Given the description of an element on the screen output the (x, y) to click on. 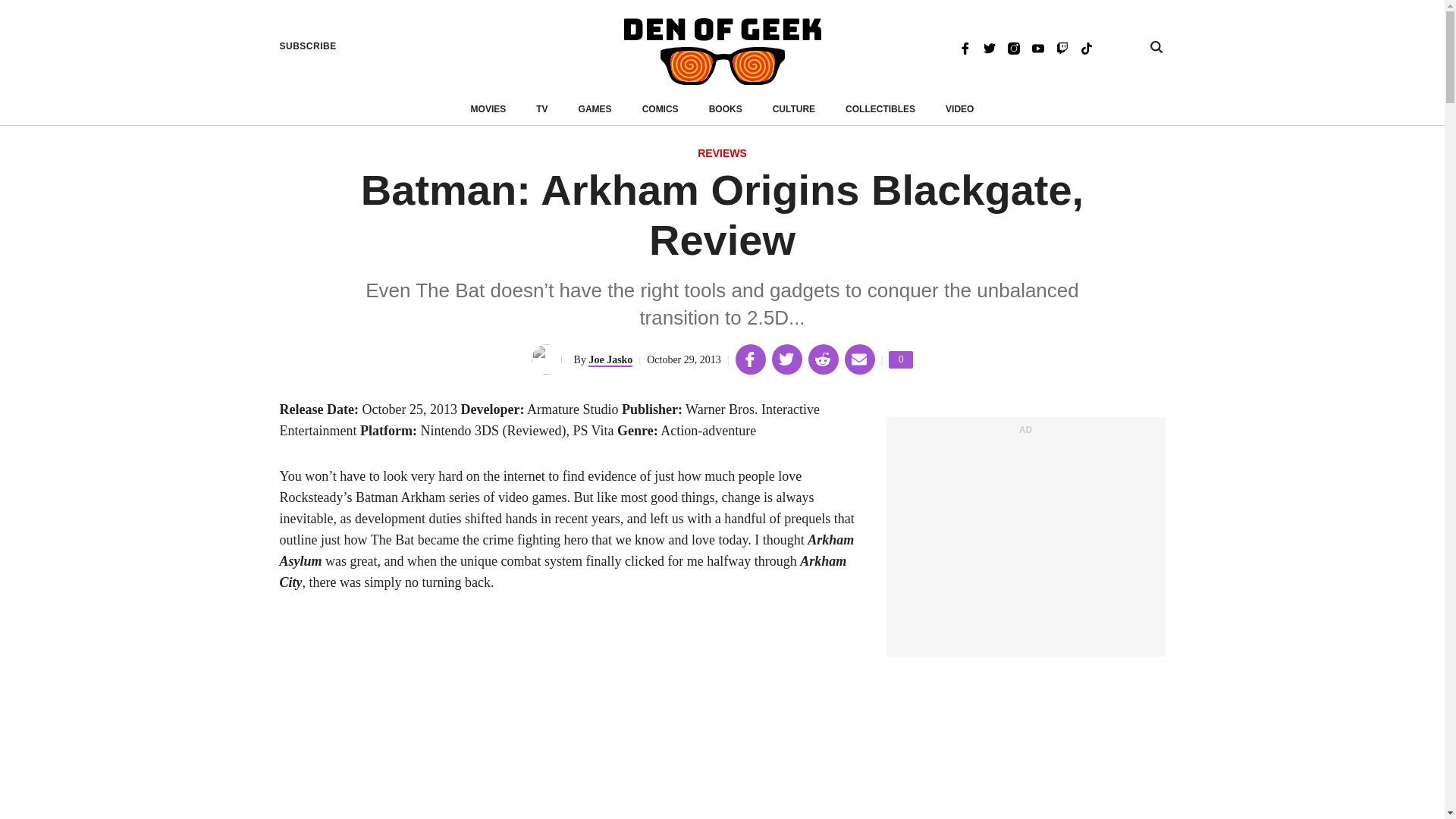
REVIEWS (721, 153)
Joe Jasko (609, 359)
GAMES (594, 109)
SUBSCRIBE (307, 46)
Twitter (900, 359)
TikTok (988, 46)
BOOKS (1085, 46)
VIDEO (725, 109)
Instagram (959, 109)
